Given the description of an element on the screen output the (x, y) to click on. 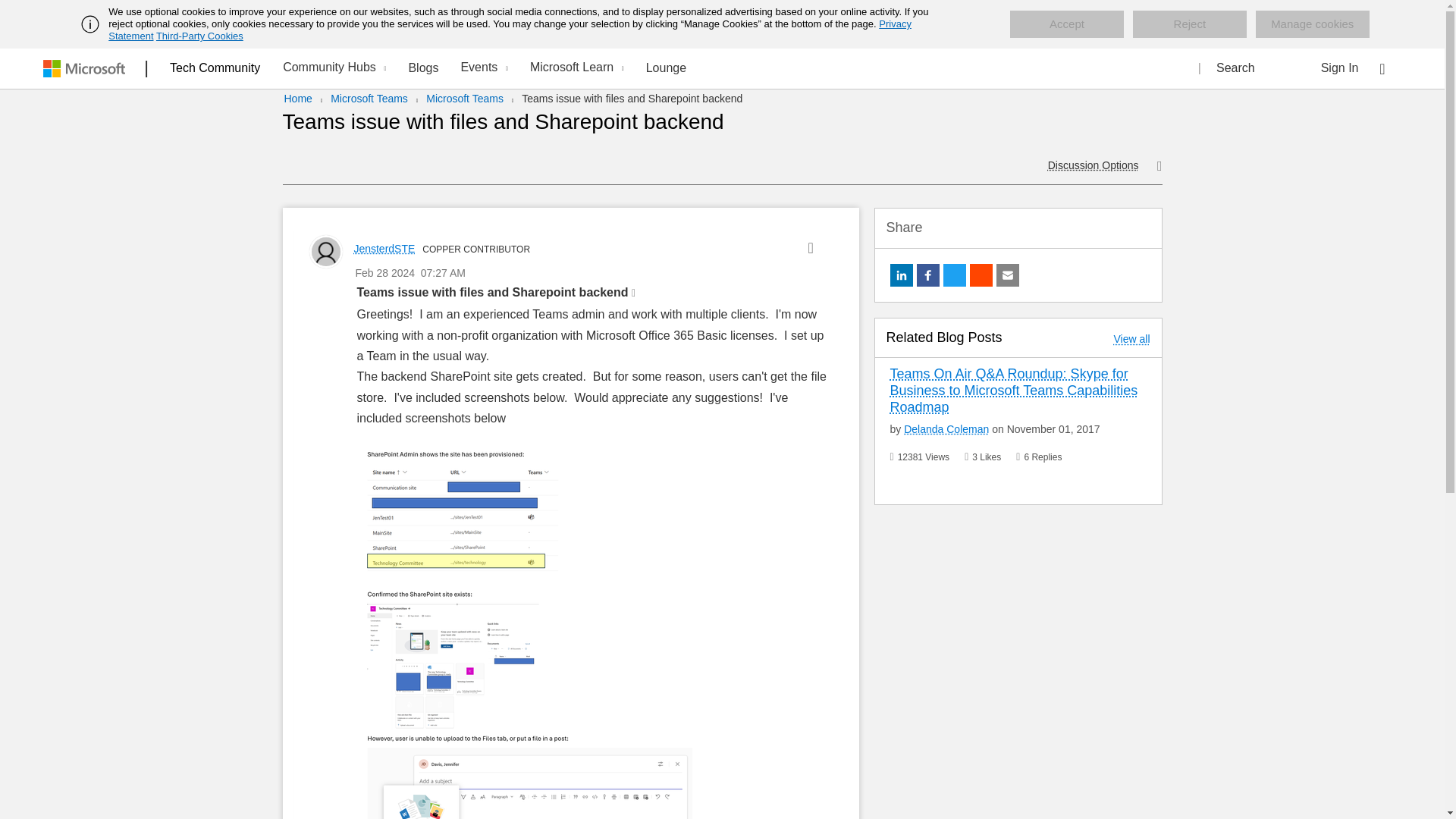
Reject (1189, 23)
Privacy Statement (509, 29)
Tech Community (215, 67)
Accept (1067, 23)
Manage cookies (1312, 23)
Community Hubs (332, 67)
Third-Party Cookies (199, 35)
